Given the description of an element on the screen output the (x, y) to click on. 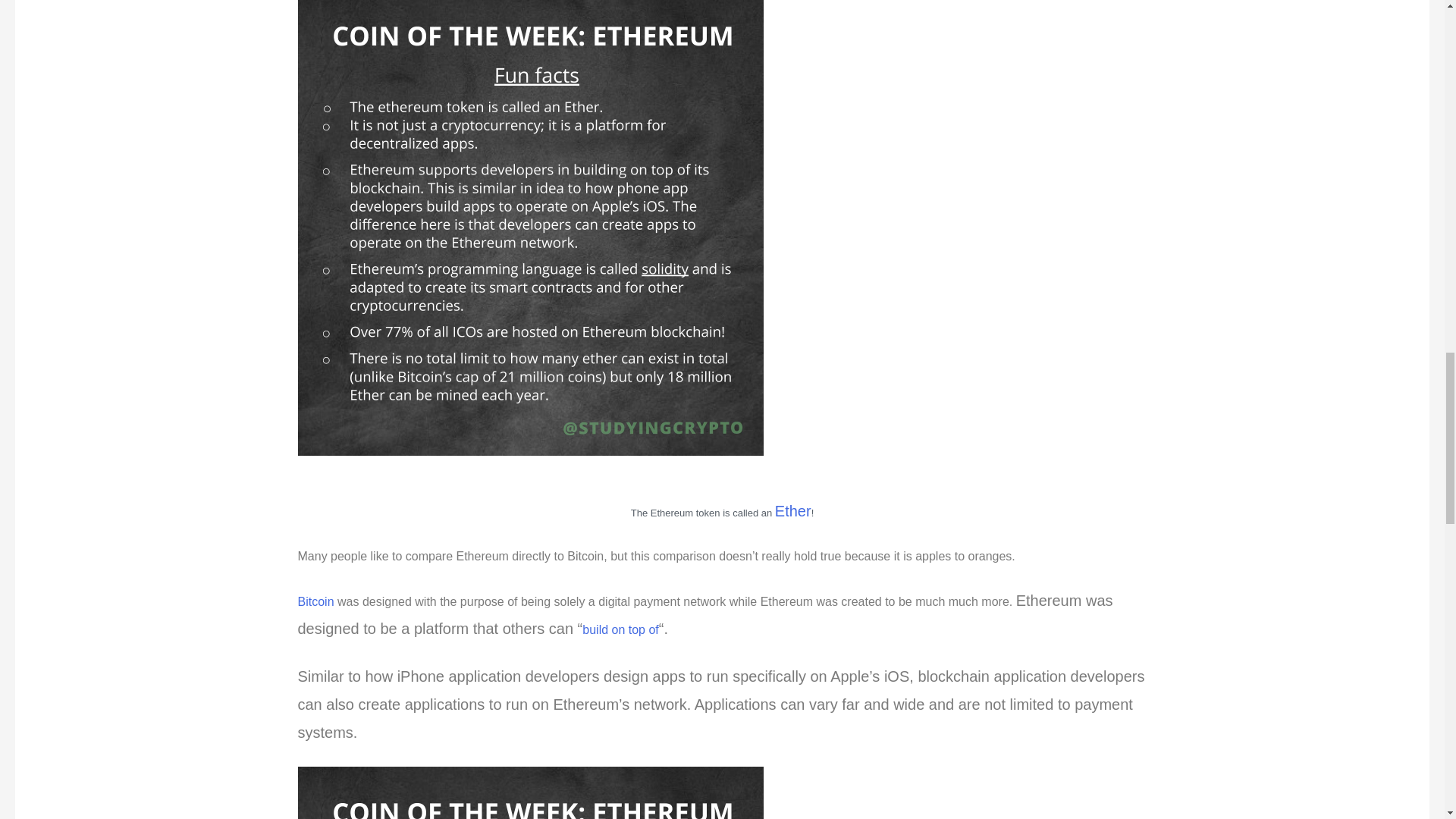
Bitcoin  (316, 601)
Ether (792, 510)
build on top of (620, 629)
